Given the description of an element on the screen output the (x, y) to click on. 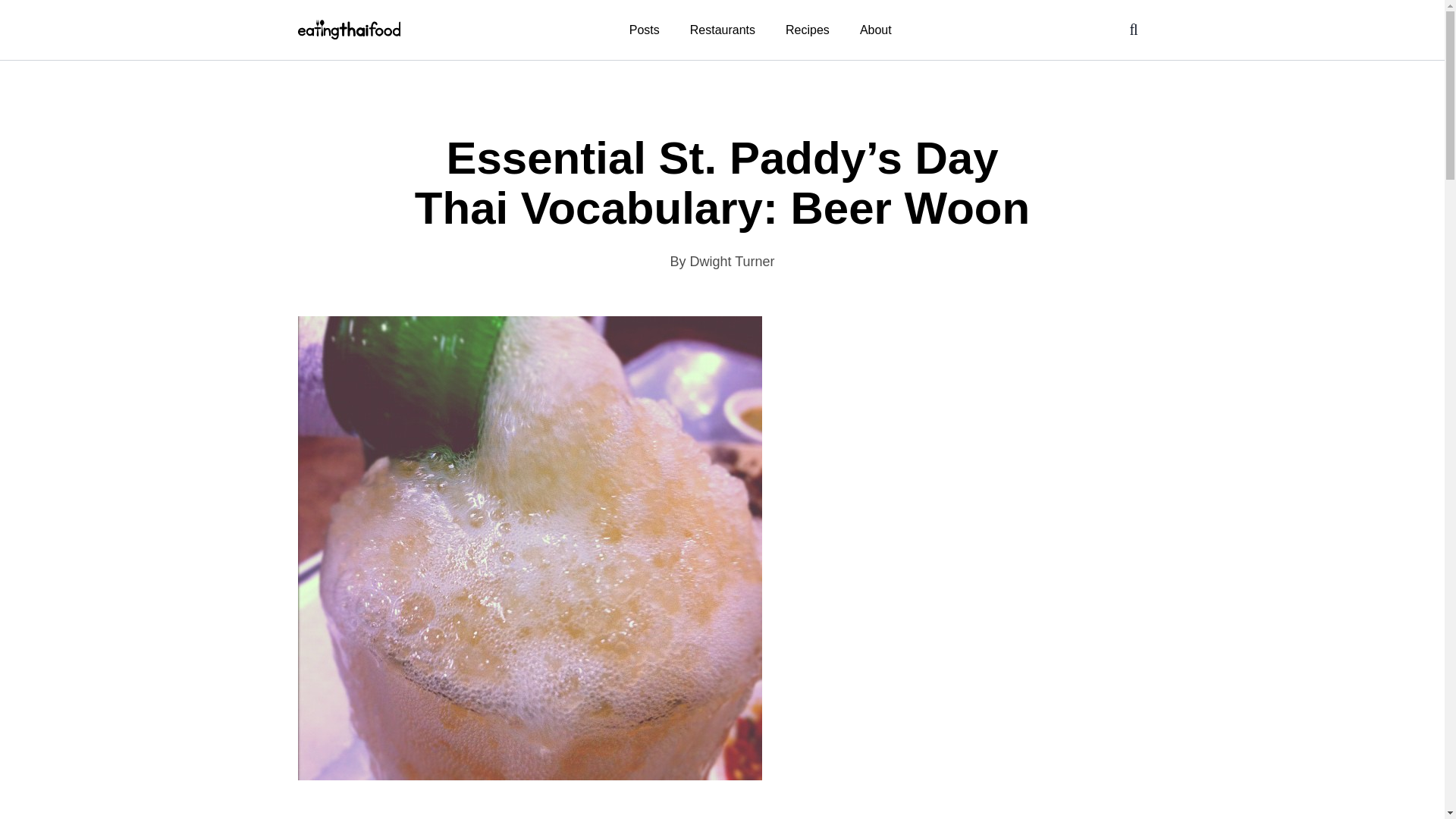
Posts (644, 28)
About (875, 28)
Restaurants (722, 28)
Recipes (807, 28)
